Given the description of an element on the screen output the (x, y) to click on. 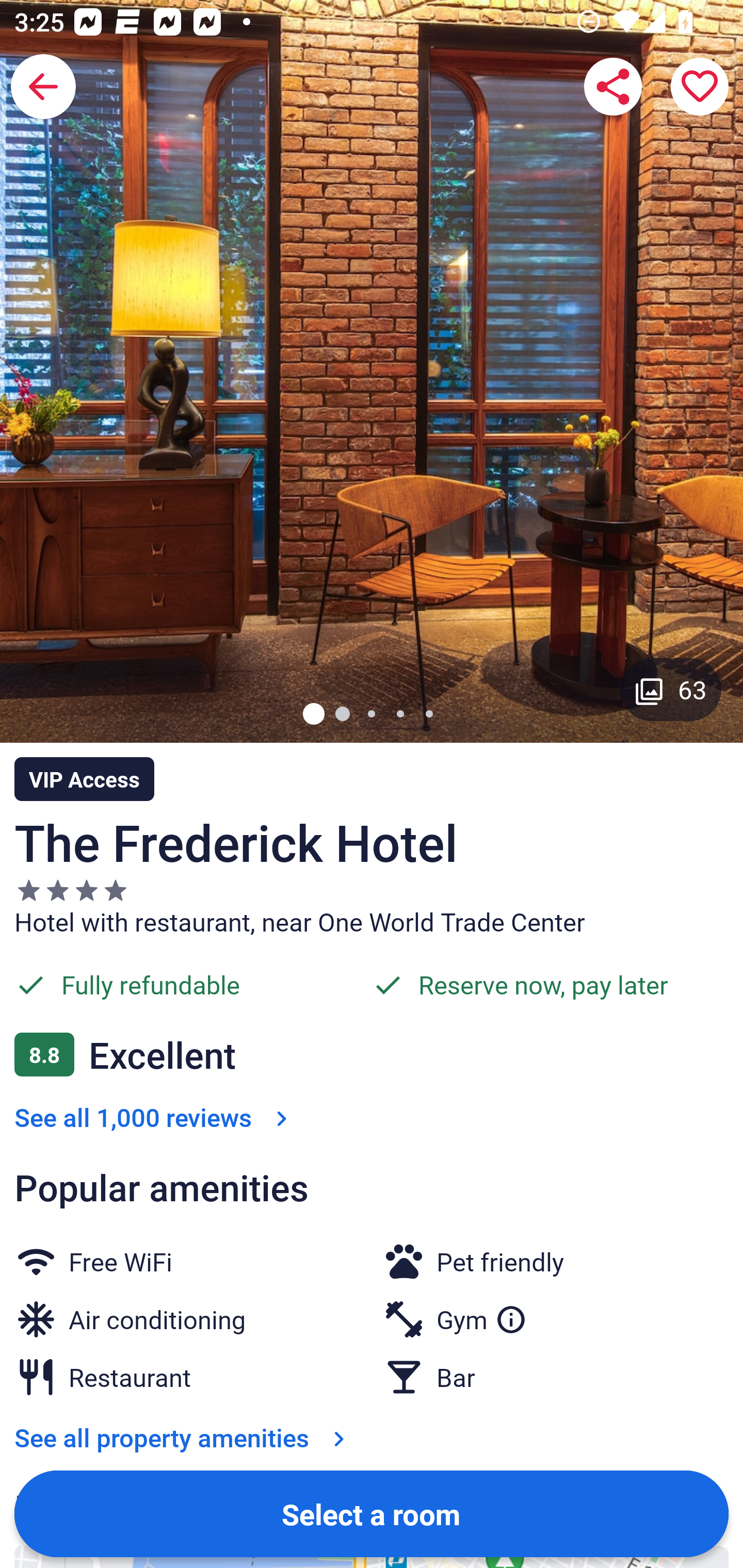
Back (43, 86)
Save property to a trip (699, 86)
Share The Frederick Hotel (612, 87)
Gallery button with 63 images (670, 689)
See all 1,000 reviews See all 1,000 reviews Link (154, 1117)
Gym (481, 1315)
See all property amenities (183, 1436)
Select a room Button Select a room (371, 1513)
